Given the description of an element on the screen output the (x, y) to click on. 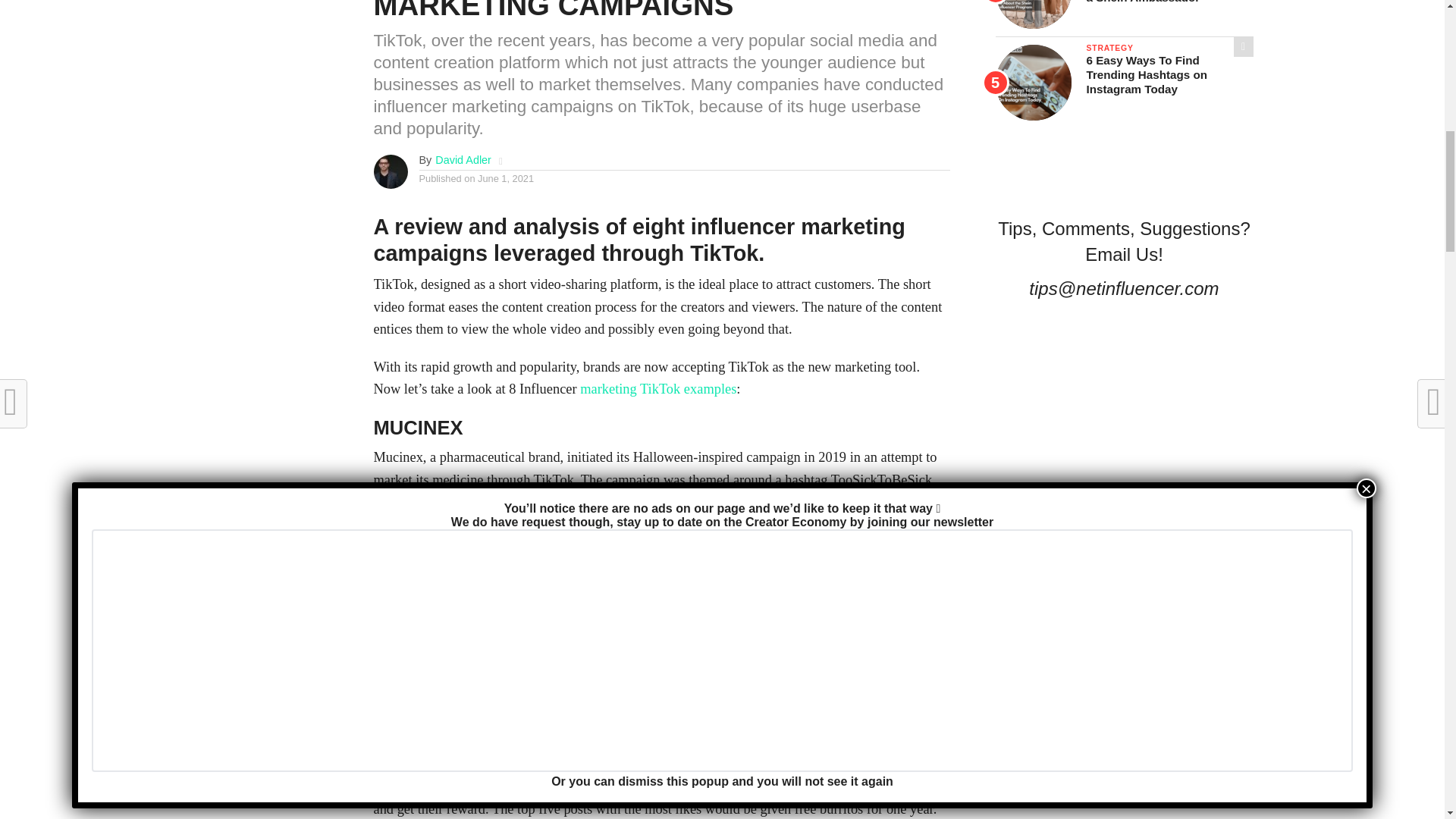
Posts by David Adler (463, 159)
